Given the description of an element on the screen output the (x, y) to click on. 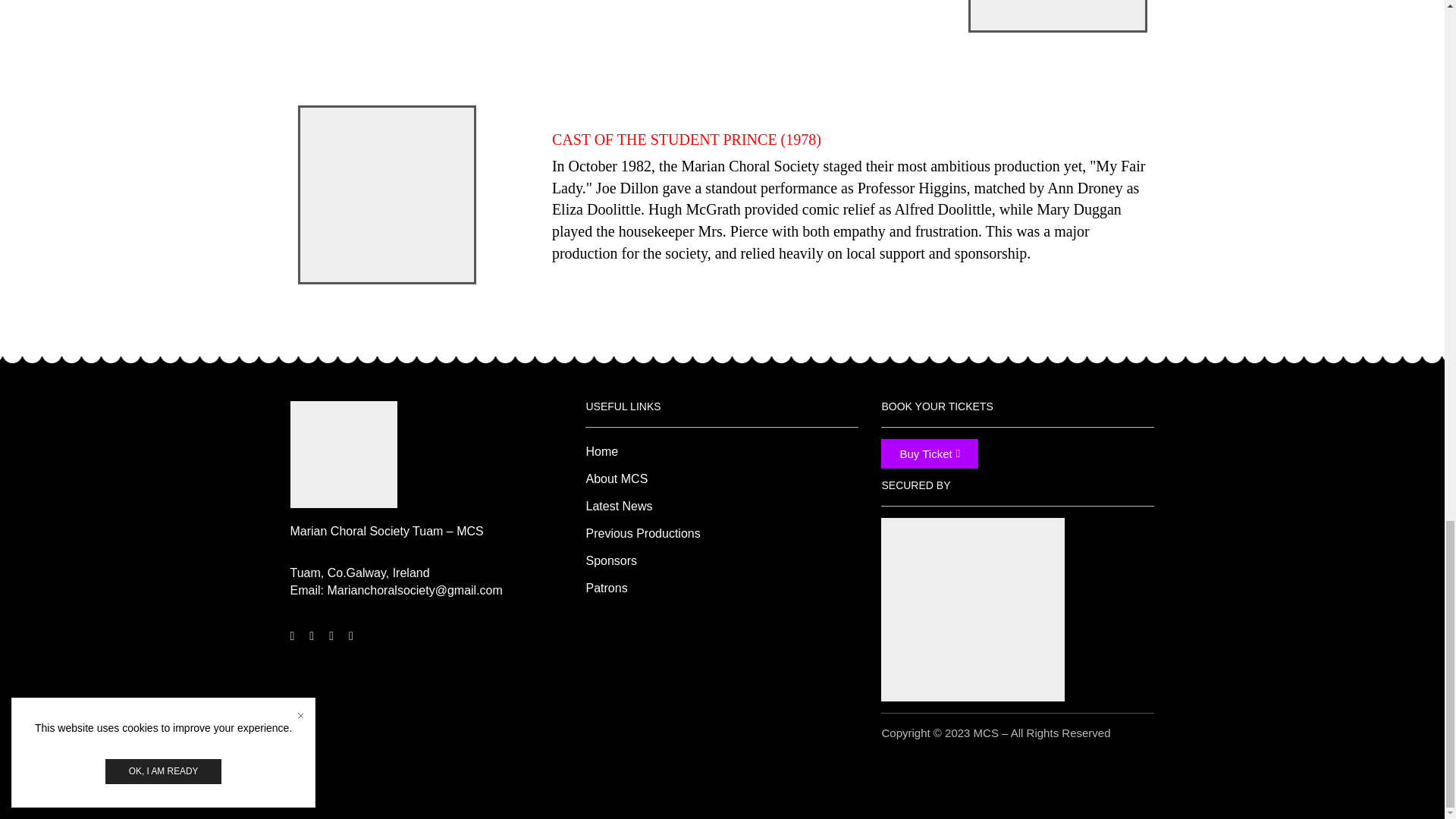
Sponsors (722, 565)
About MCS (722, 483)
Previous Productions (722, 538)
Latest News (722, 510)
Patrons (722, 592)
Home (722, 456)
